Given the description of an element on the screen output the (x, y) to click on. 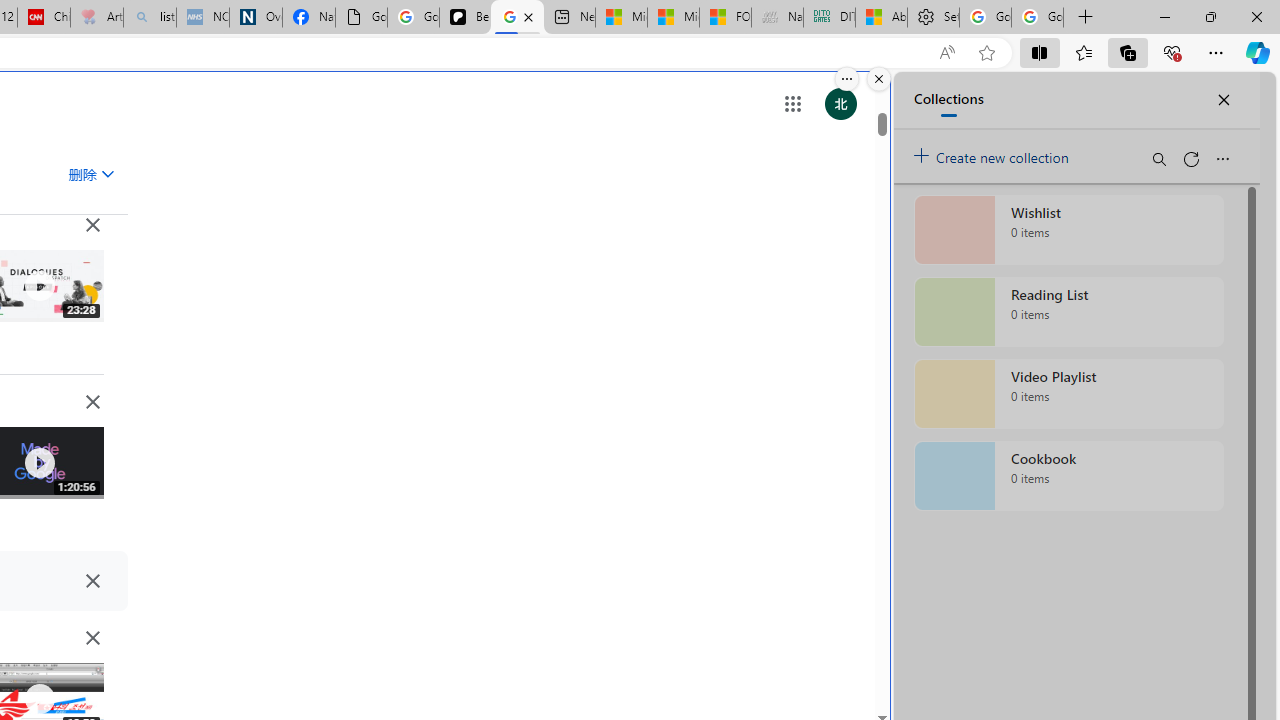
Arthritis: Ask Health Professionals - Sleeping (96, 17)
Google Analytics Opt-out Browser Add-on Download Page (360, 17)
FOX News - MSN (725, 17)
